Given the description of an element on the screen output the (x, y) to click on. 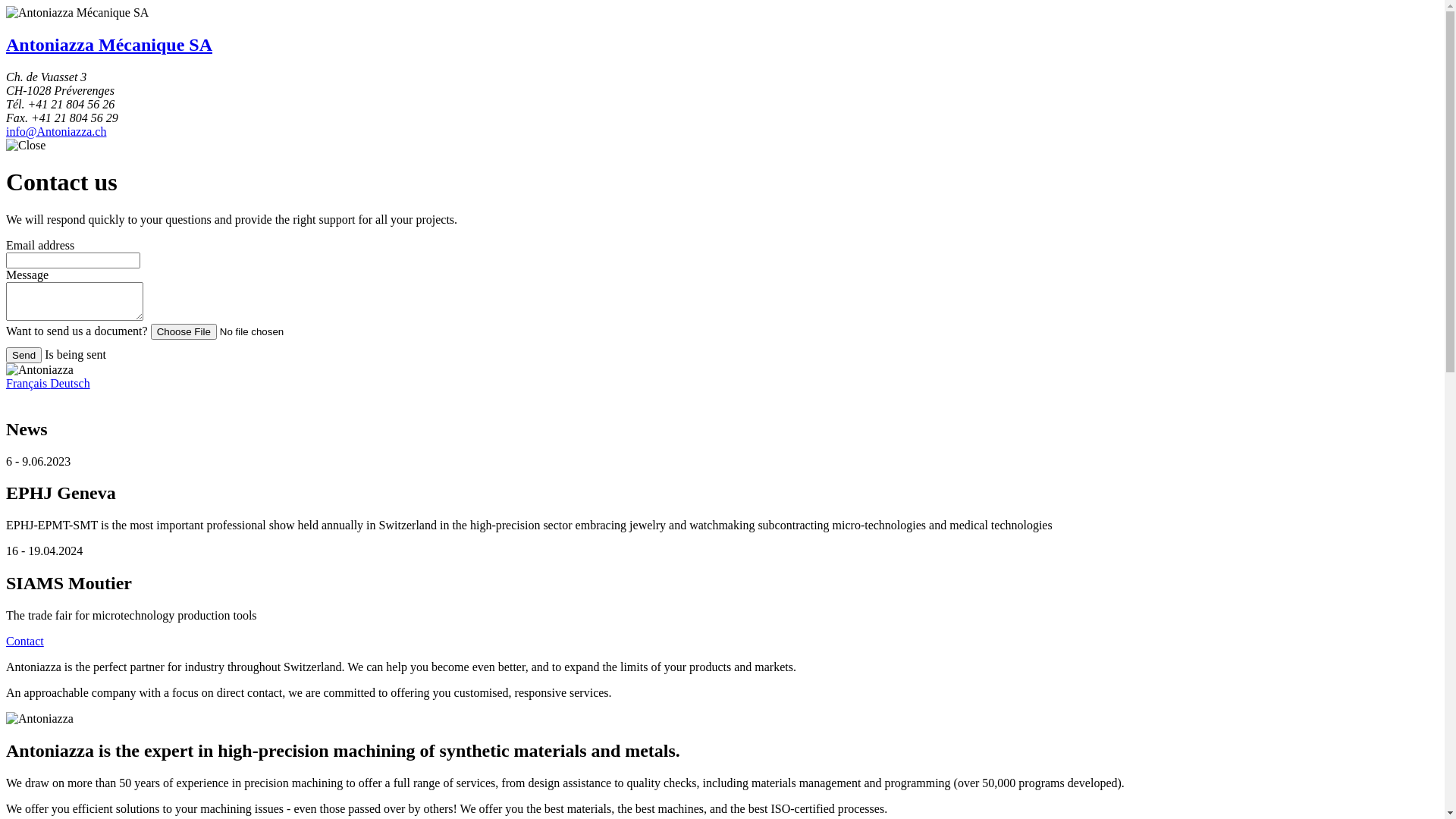
info@Antoniazza.ch Element type: text (56, 131)
Send Element type: text (23, 355)
Contact Element type: text (24, 640)
Deutsch Element type: text (69, 382)
